Given the description of an element on the screen output the (x, y) to click on. 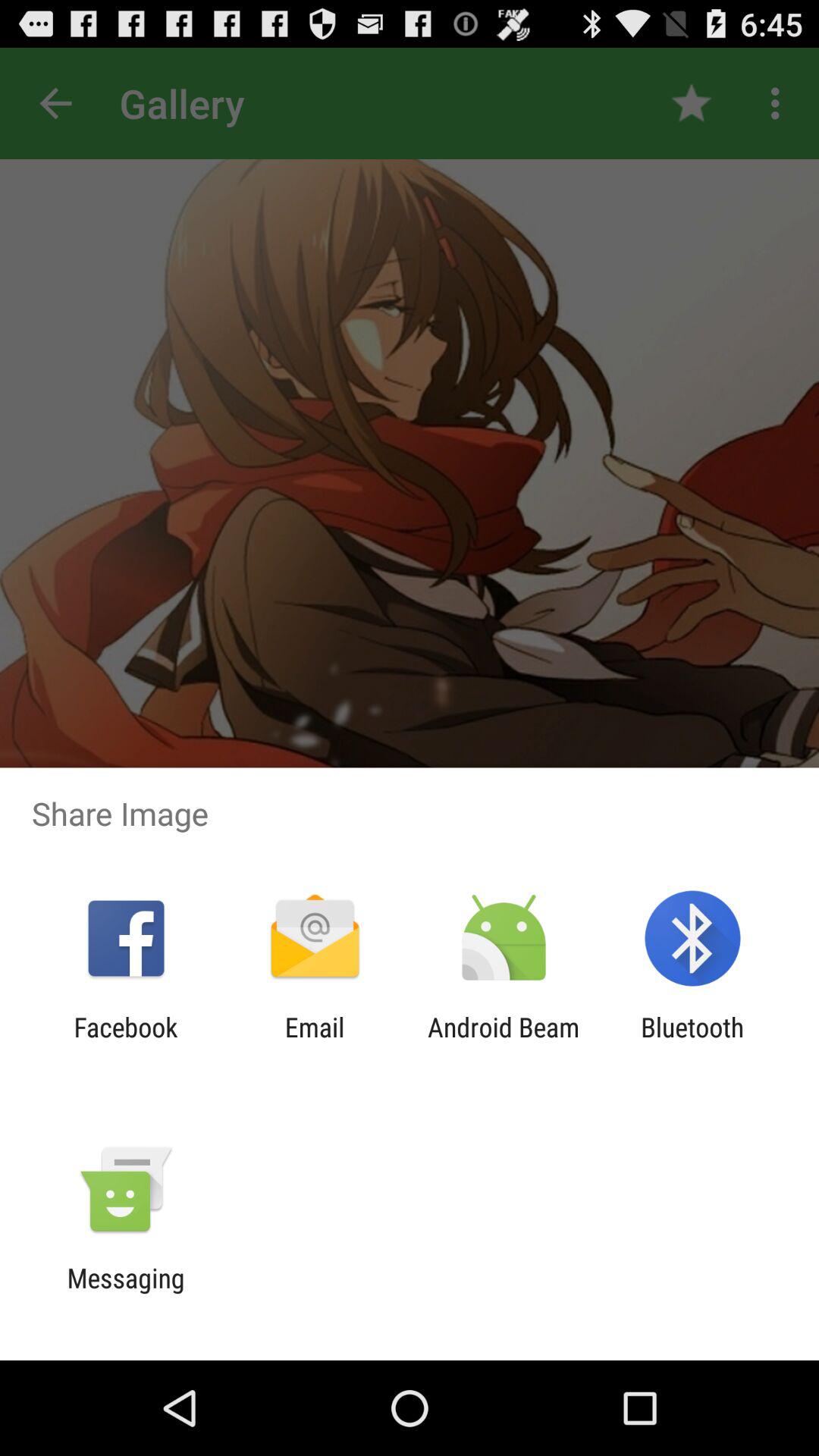
press bluetooth item (691, 1042)
